Given the description of an element on the screen output the (x, y) to click on. 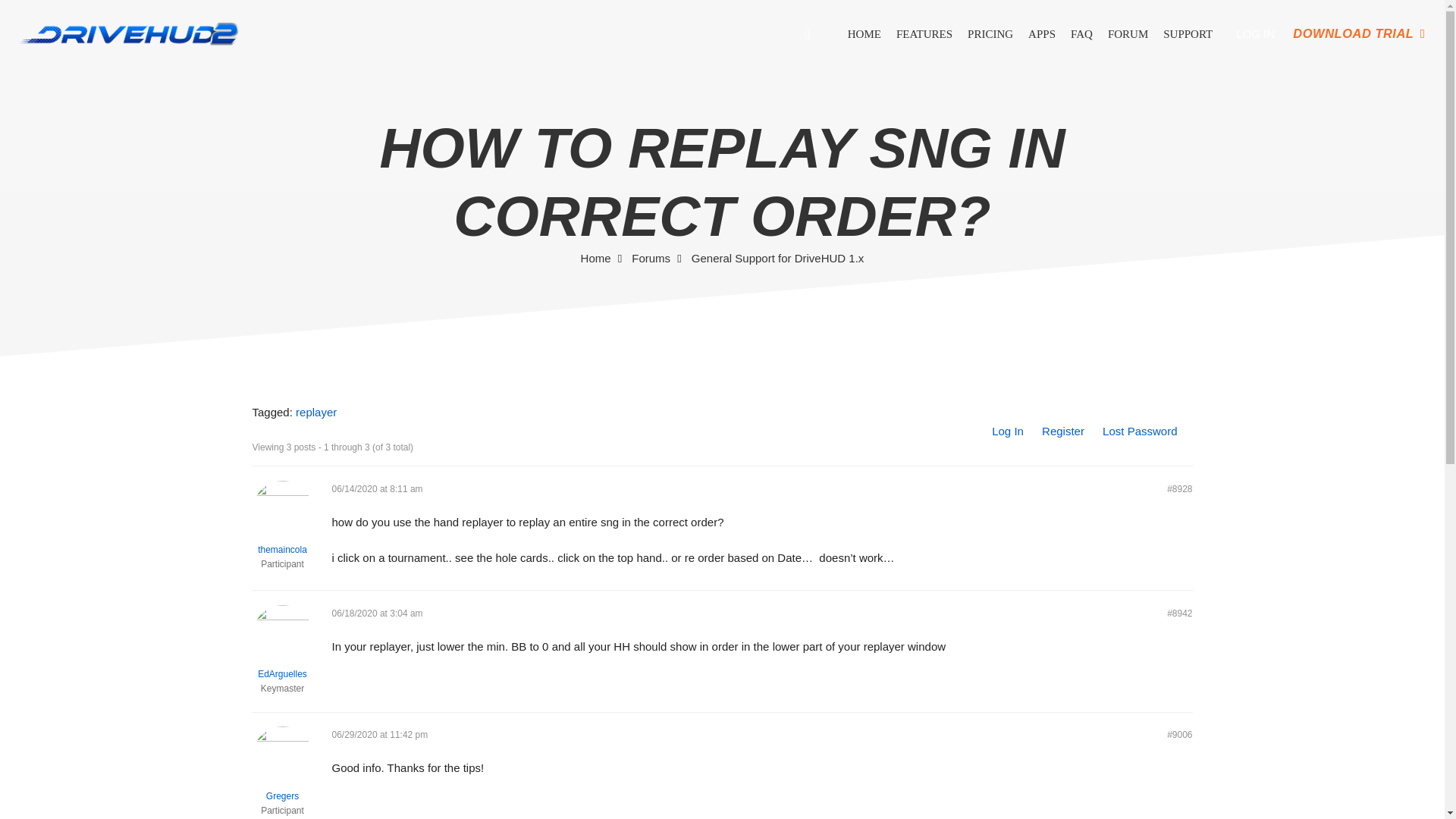
General Support for DriveHUD 1.x (777, 257)
DOWNLOAD TRIAL (1358, 33)
View EdArguelles's profile (282, 642)
SUPPORT (1188, 34)
Home (595, 257)
FAQ (1081, 34)
Log In (1007, 431)
LOG IN (1255, 33)
Forums (650, 257)
PRICING (989, 34)
HOME (864, 34)
replayer (315, 411)
FEATURES (923, 34)
EdArguelles (282, 642)
APPS (1041, 34)
